Given the description of an element on the screen output the (x, y) to click on. 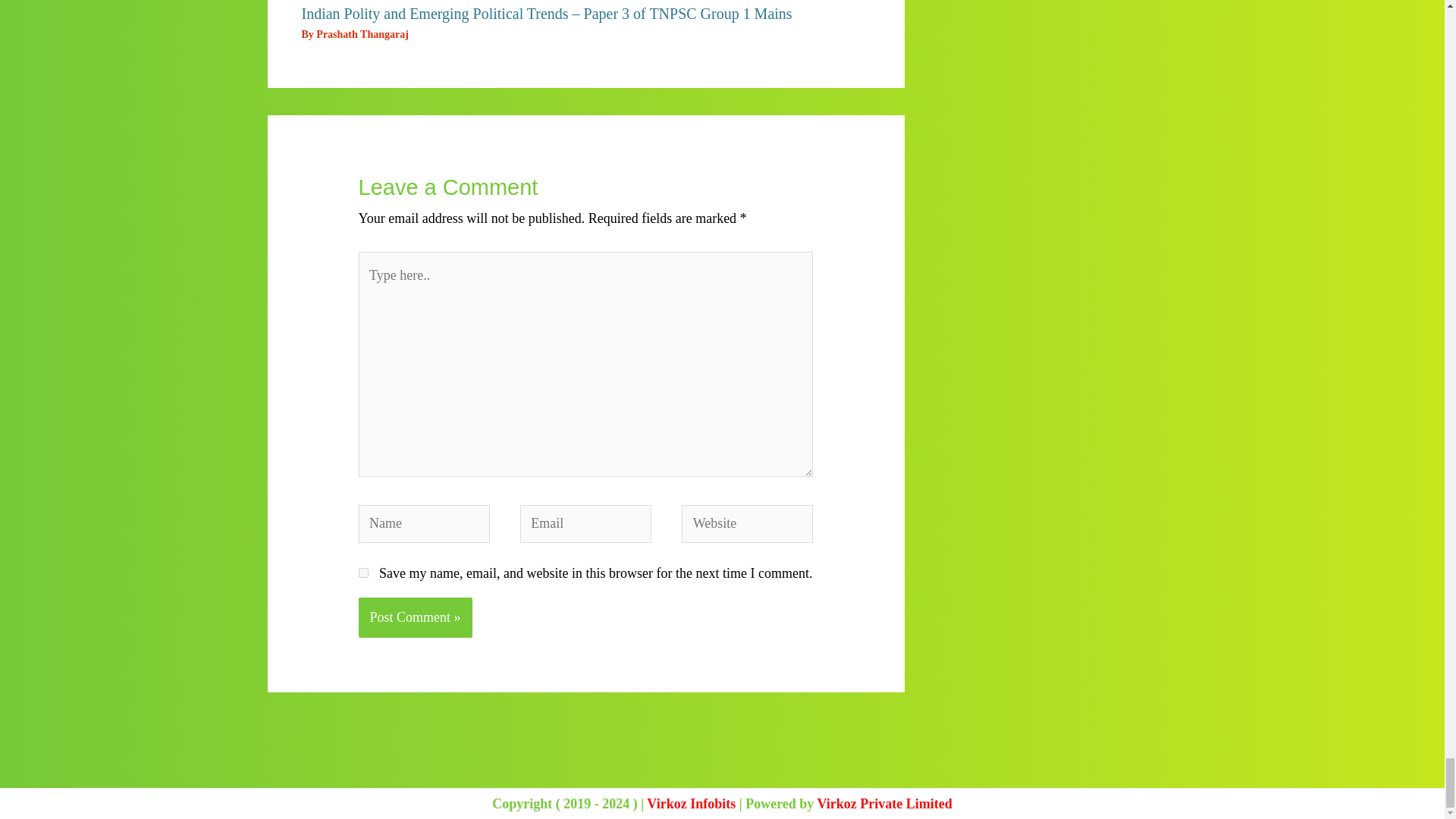
View all posts by Prashath Thangaraj (361, 34)
yes (363, 573)
